Given the description of an element on the screen output the (x, y) to click on. 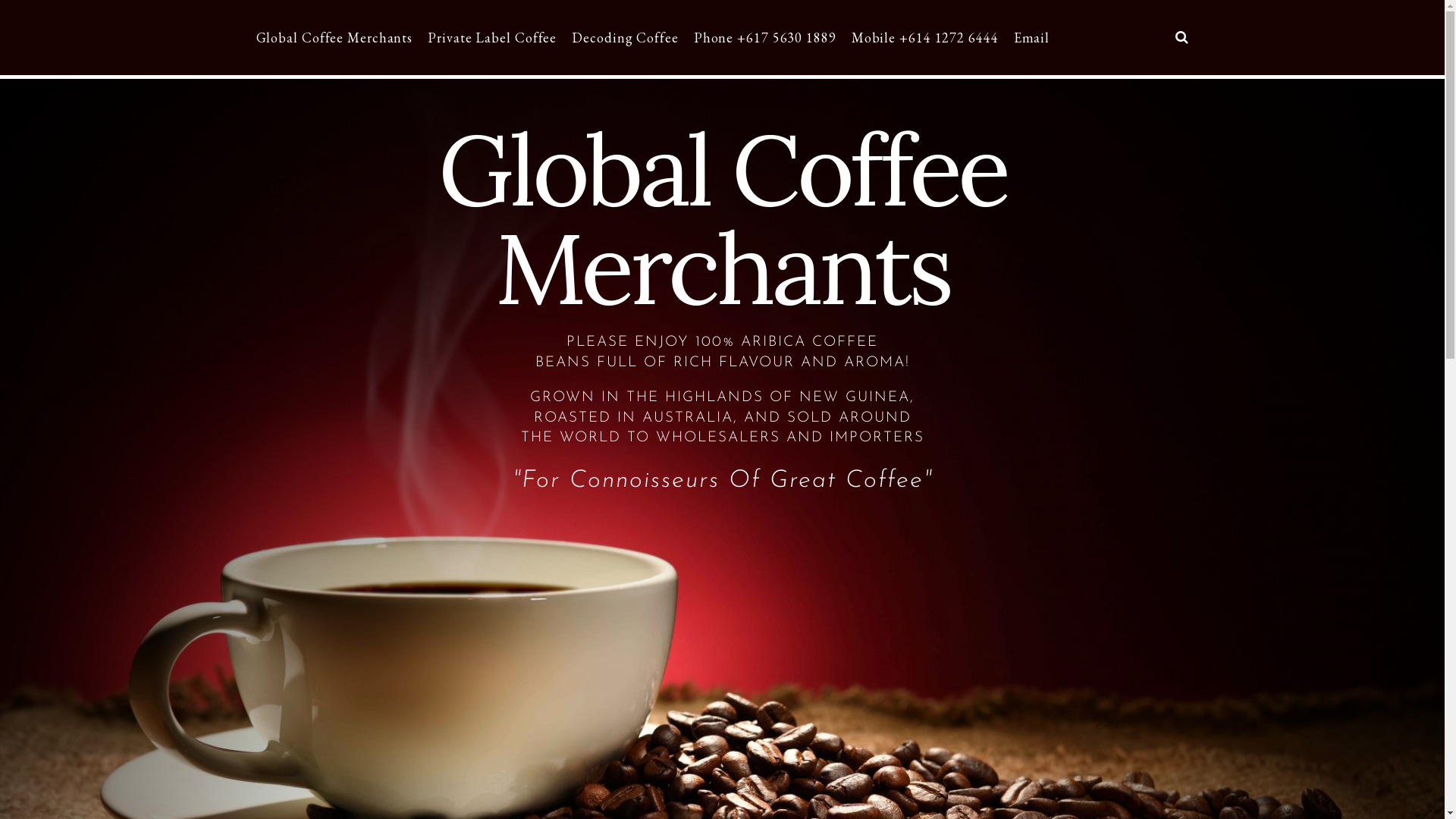
Private Label Coffee Element type: text (492, 37)
Mobile +614 1272 6444 Element type: text (925, 37)
Email Element type: text (1031, 37)
Global Coffee Merchants Element type: text (338, 37)
Decoding Coffee Element type: text (625, 37)
  Element type: text (1181, 37)
Phone +617 5630 1889 Element type: text (765, 37)
